Given the description of an element on the screen output the (x, y) to click on. 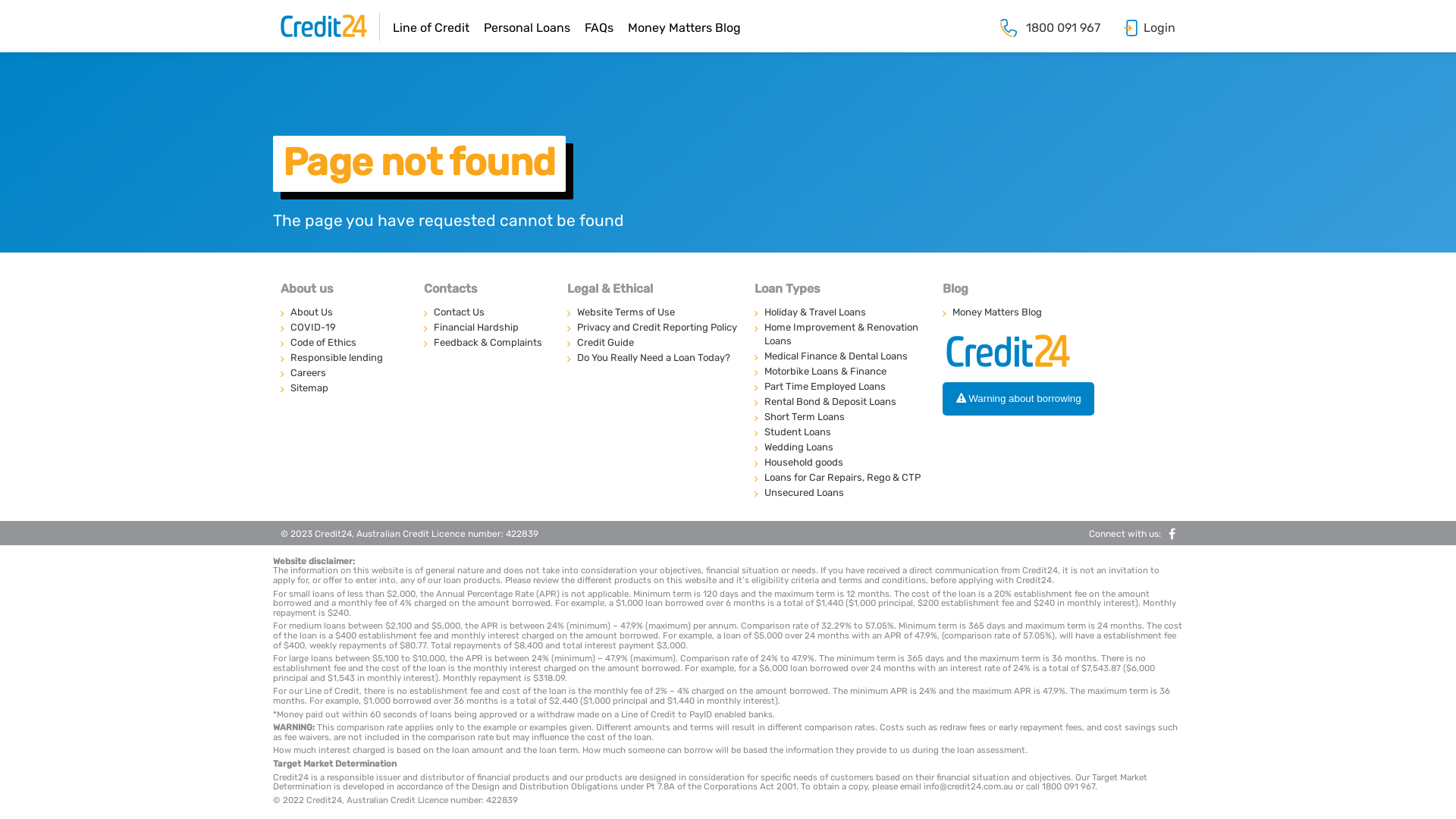
Login Element type: text (1159, 27)
Do You Really Need a Loan Today? Element type: text (652, 357)
Personal Loans Element type: text (526, 26)
Feedback & Complaints Element type: text (486, 342)
Contact Us Element type: text (486, 312)
Medical Finance & Dental Loans Element type: text (839, 356)
Short Term Loans Element type: text (839, 416)
Loans for Car Repairs, Rego & CTP Element type: text (839, 477)
Line of Credit Element type: text (430, 26)
Wedding Loans Element type: text (839, 447)
Holiday & Travel Loans Element type: text (839, 312)
Home Improvement & Renovation Loans Element type: text (839, 334)
About Us Element type: text (342, 312)
Privacy and Credit Reporting Policy Element type: text (652, 327)
FAQs Element type: text (599, 26)
Credit Guide Element type: text (652, 342)
Warning about borrowing Element type: text (1018, 398)
Household goods Element type: text (839, 462)
Financial Hardship Element type: text (486, 327)
Code of Ethics Element type: text (342, 342)
Sitemap Element type: text (342, 388)
1800 091 967 Element type: text (1063, 27)
COVID-19 Element type: text (342, 327)
Money Matters Blog Element type: text (1027, 312)
Part Time Employed Loans Element type: text (839, 386)
Website Terms of Use Element type: text (652, 312)
Responsible lending Element type: text (342, 357)
Motorbike Loans & Finance Element type: text (839, 371)
Careers Element type: text (342, 372)
Unsecured Loans Element type: text (839, 492)
Rental Bond & Deposit Loans Element type: text (839, 401)
Money Matters Blog Element type: text (684, 26)
Student Loans Element type: text (839, 432)
